Given the description of an element on the screen output the (x, y) to click on. 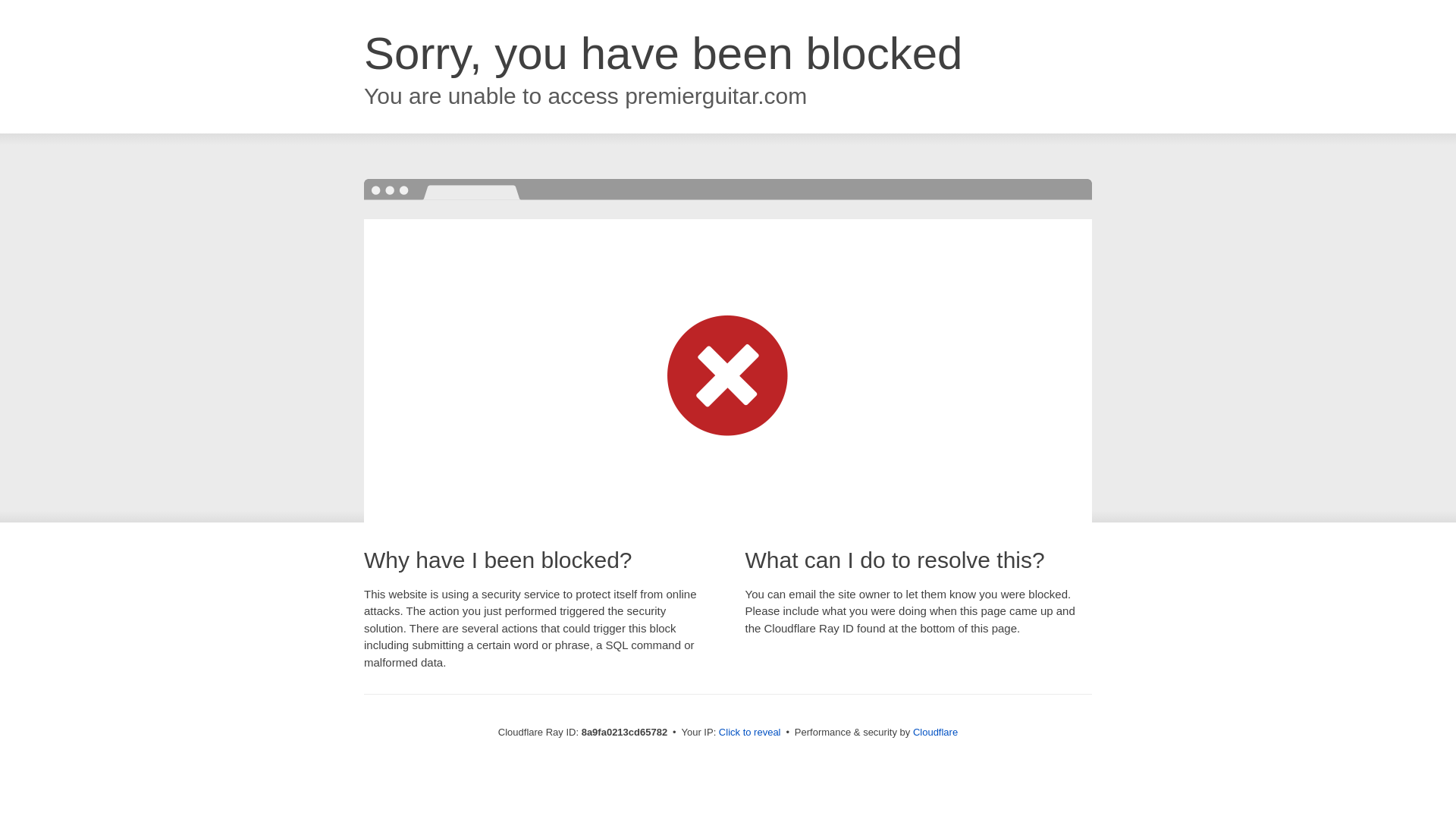
Cloudflare (935, 731)
Click to reveal (749, 732)
